Given the description of an element on the screen output the (x, y) to click on. 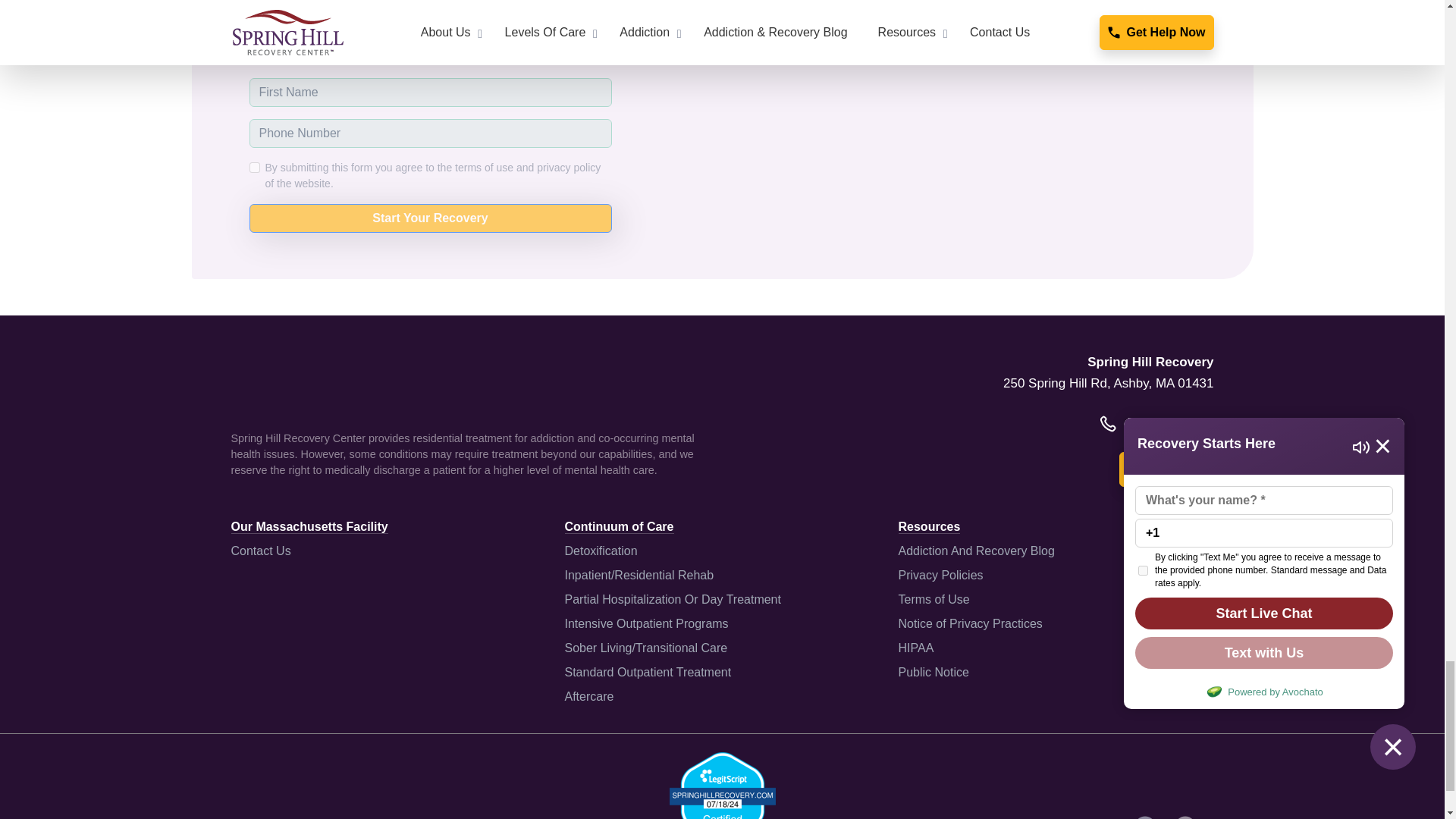
on (253, 167)
Verify LegitScript Approval (721, 797)
